Given the description of an element on the screen output the (x, y) to click on. 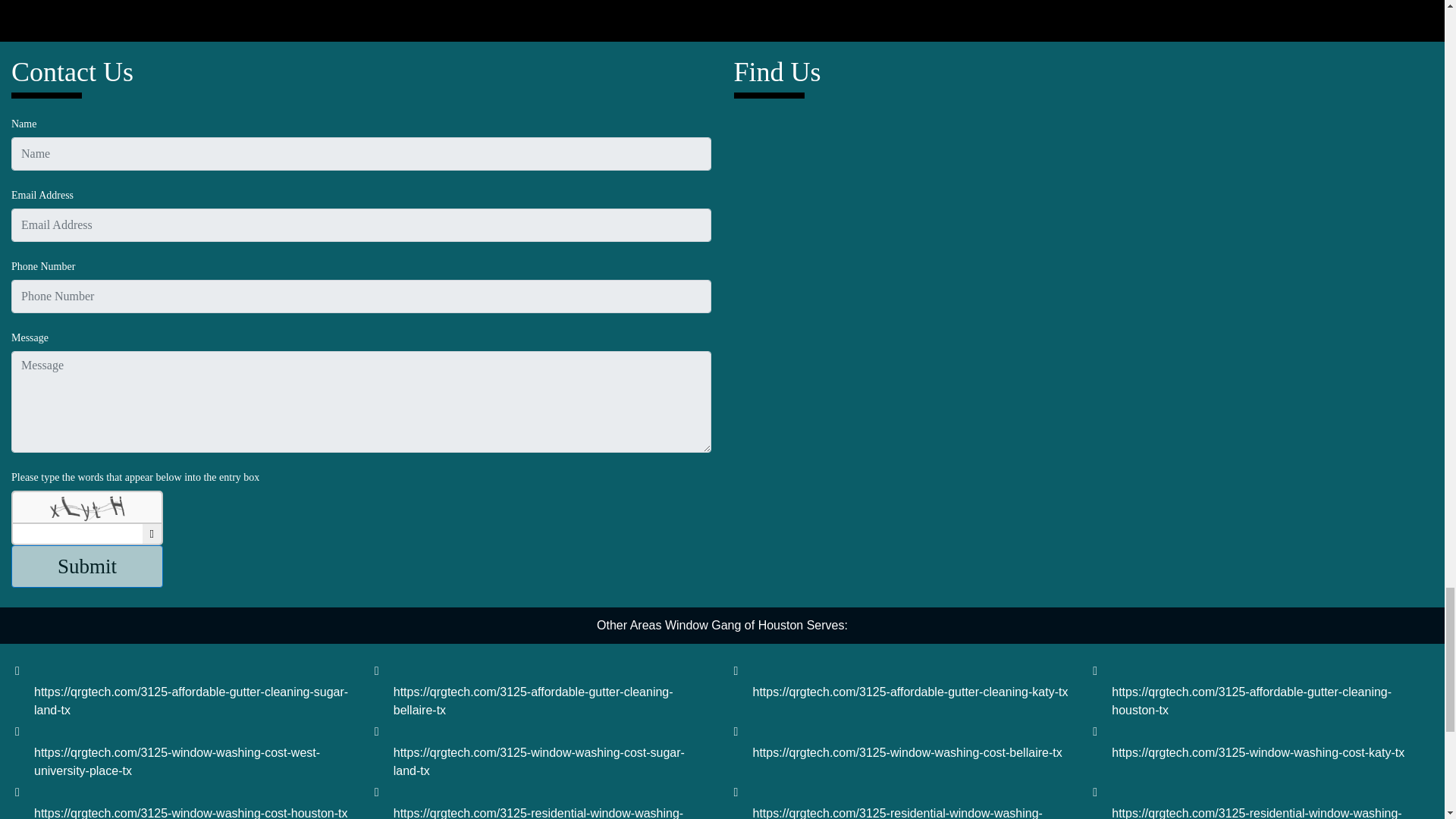
Submit (87, 566)
